Given the description of an element on the screen output the (x, y) to click on. 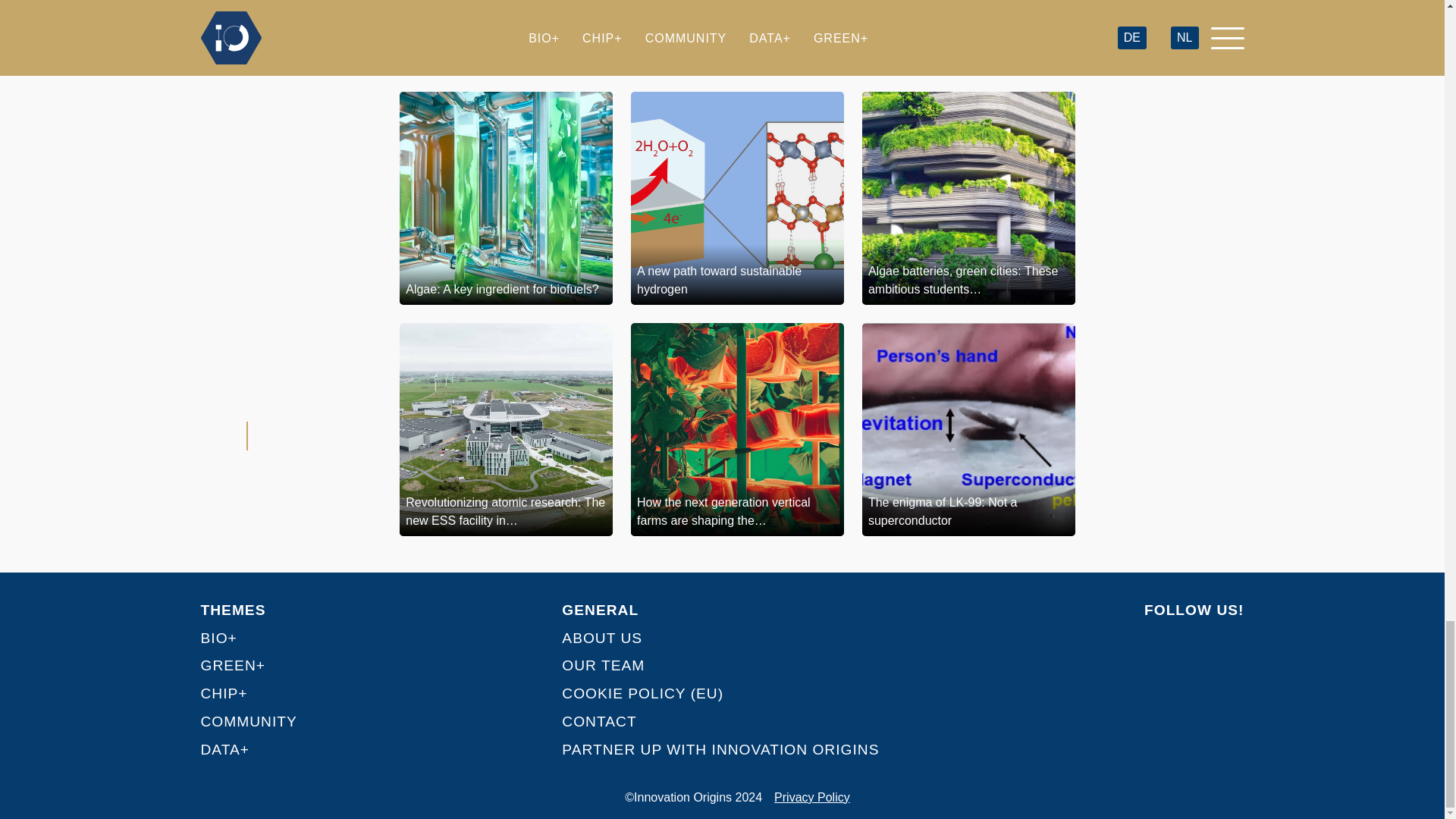
A new path toward sustainable hydrogen (737, 197)
Algae: A key ingredient for biofuels? (505, 197)
